Given the description of an element on the screen output the (x, y) to click on. 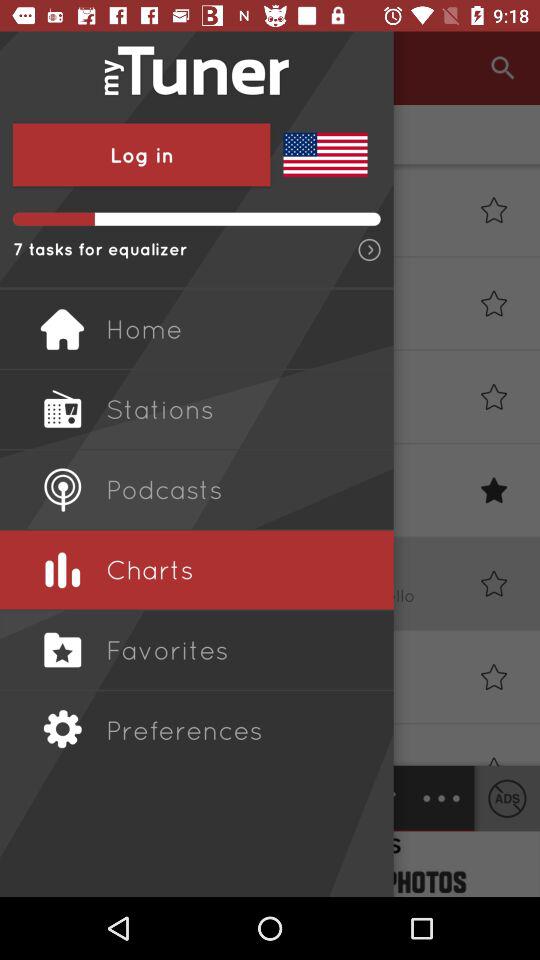
click on the icon beside charts (61, 570)
